Given the description of an element on the screen output the (x, y) to click on. 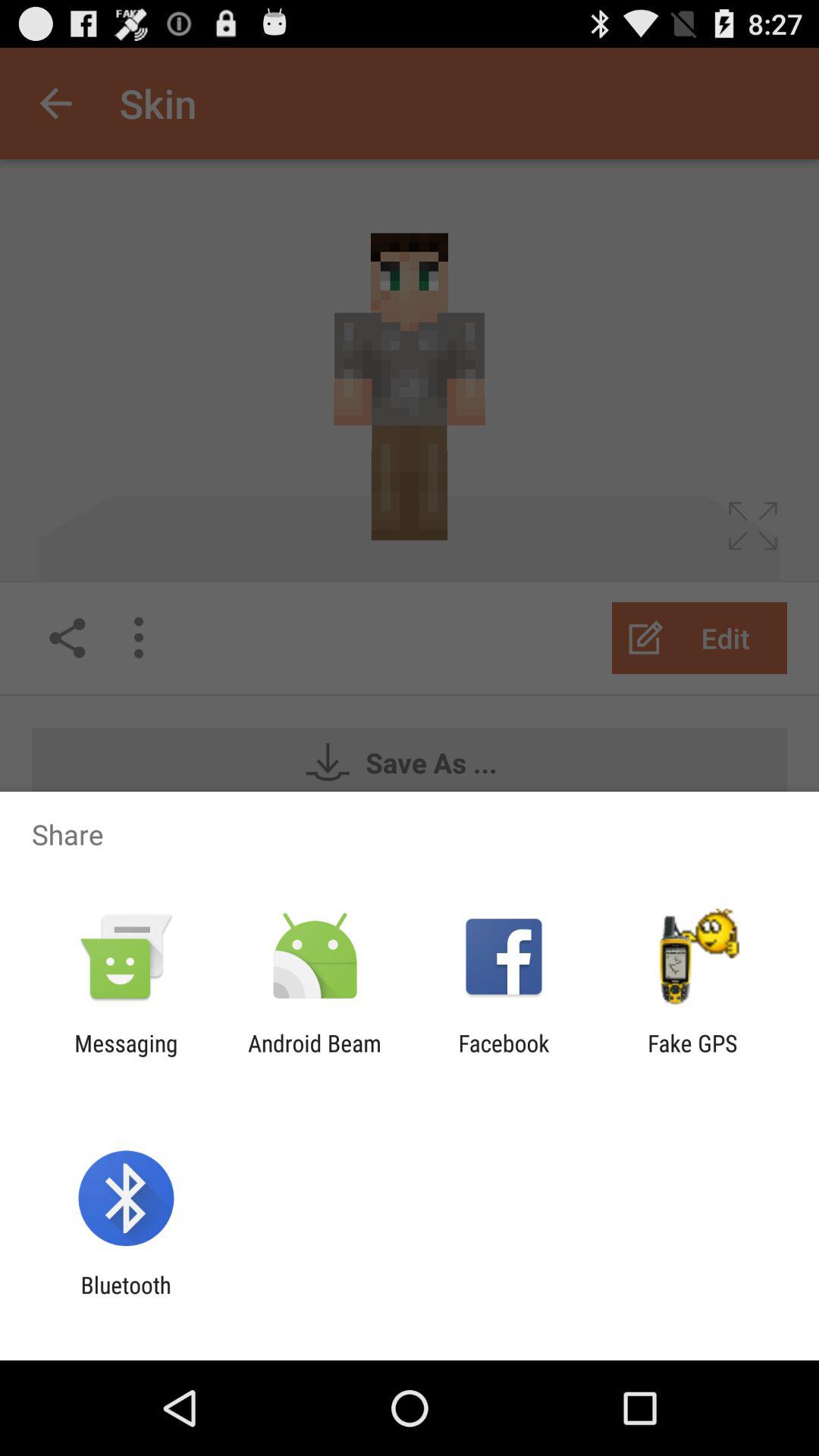
click the icon to the right of messaging (314, 1056)
